Given the description of an element on the screen output the (x, y) to click on. 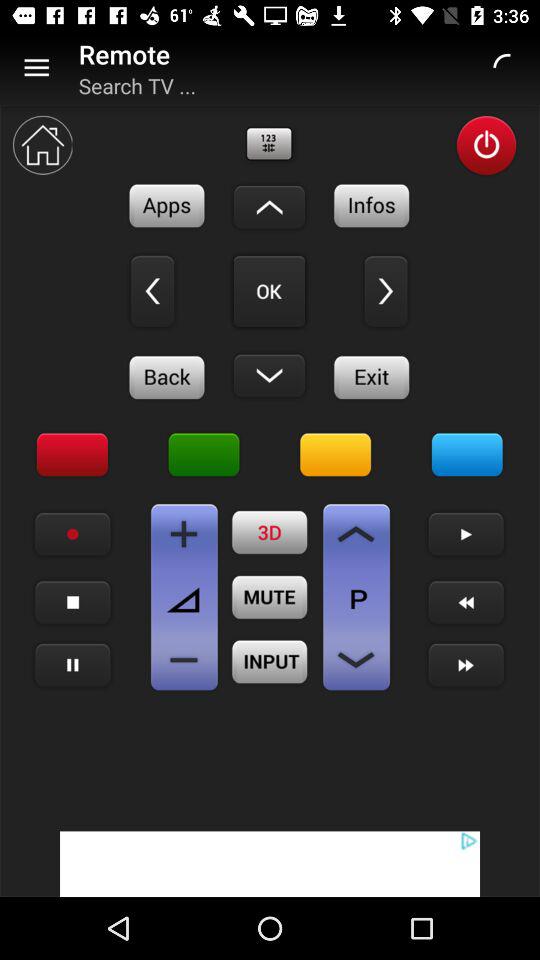
down arrow (356, 534)
